Given the description of an element on the screen output the (x, y) to click on. 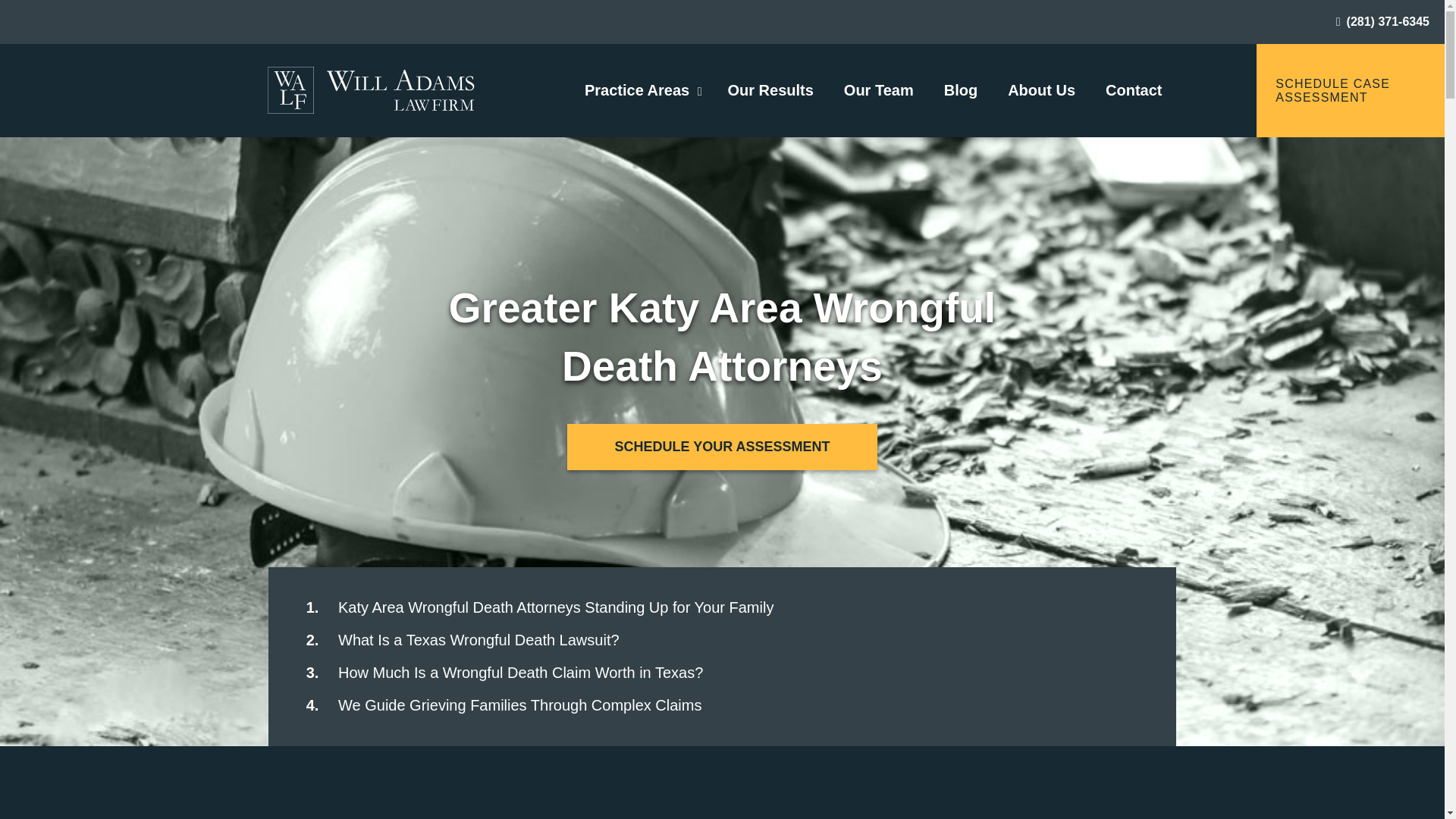
SCHEDULE YOUR ASSESSMENT (722, 447)
Contact (1133, 89)
Blog (959, 89)
About Us (1041, 89)
Wrongful Death (370, 90)
Our Results (769, 89)
Our Team (879, 89)
We Guide Grieving Families Through Complex Claims (522, 704)
Practice Areas (636, 89)
What Is a Texas Wrongful Death Lawsuit? (478, 639)
How Much Is a Wrongful Death Claim Worth in Texas? (520, 672)
